Given the description of an element on the screen output the (x, y) to click on. 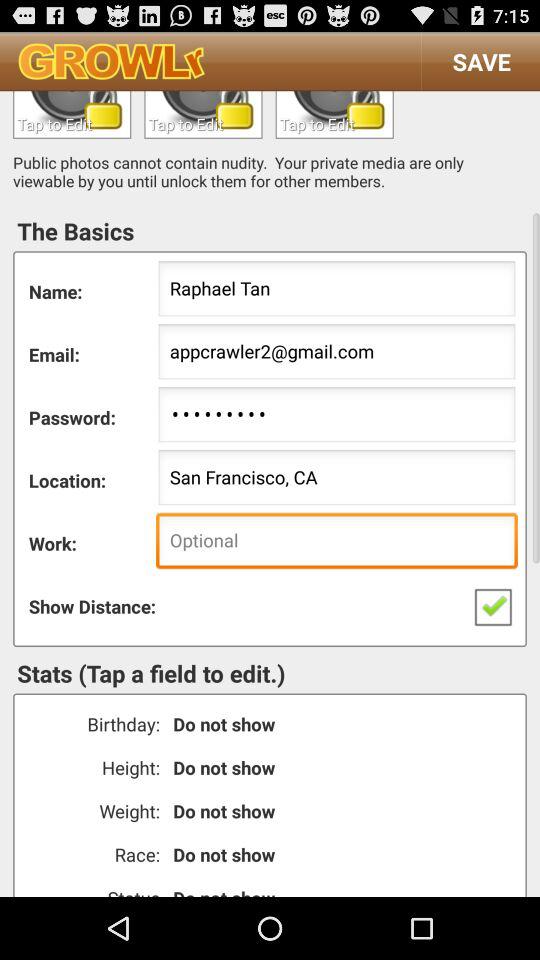
enter workplace information (336, 542)
